Given the description of an element on the screen output the (x, y) to click on. 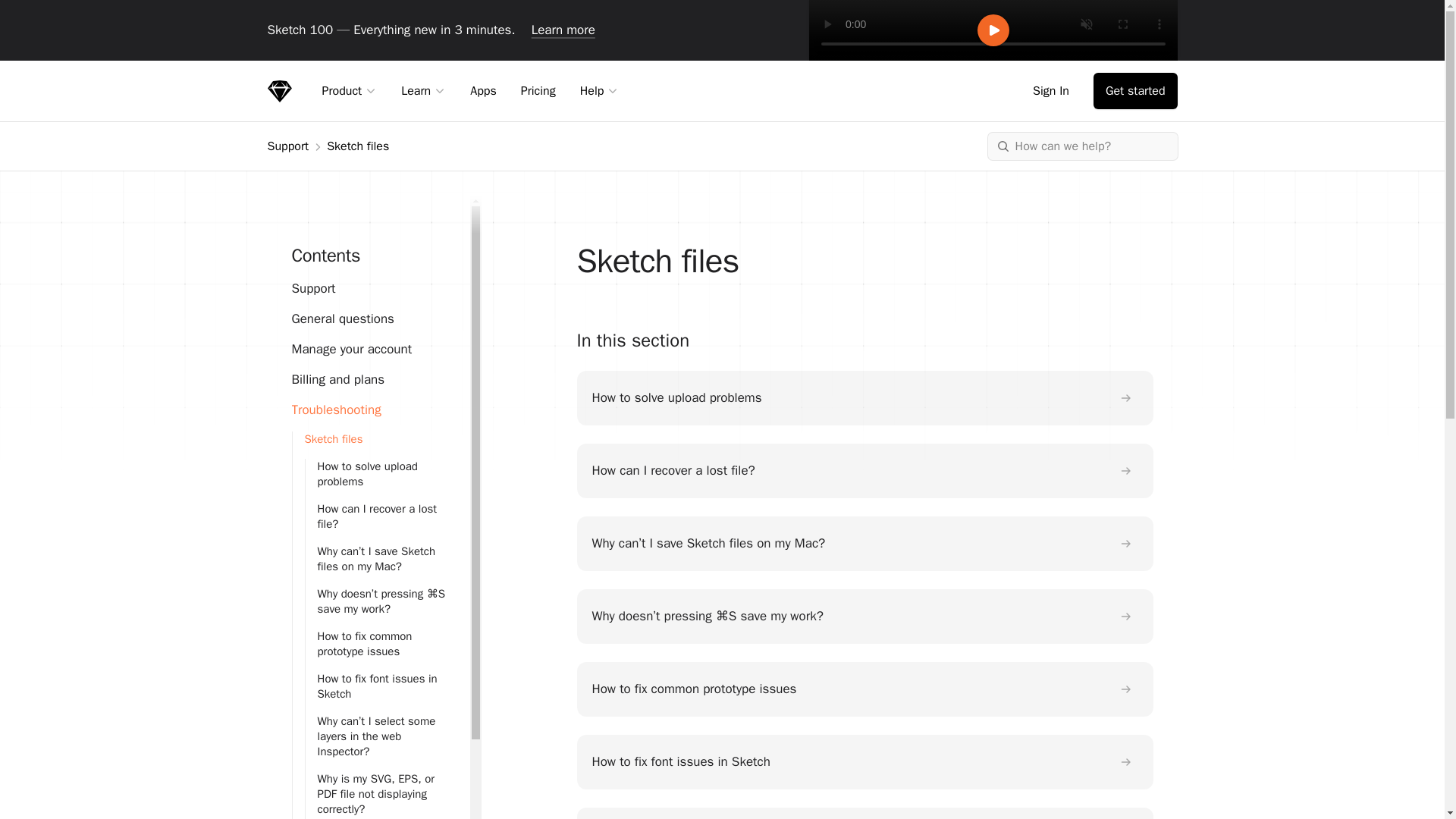
Learn more (563, 29)
Apps (483, 90)
Sign In (1053, 90)
Pricing (537, 90)
Get started (1135, 90)
